Given the description of an element on the screen output the (x, y) to click on. 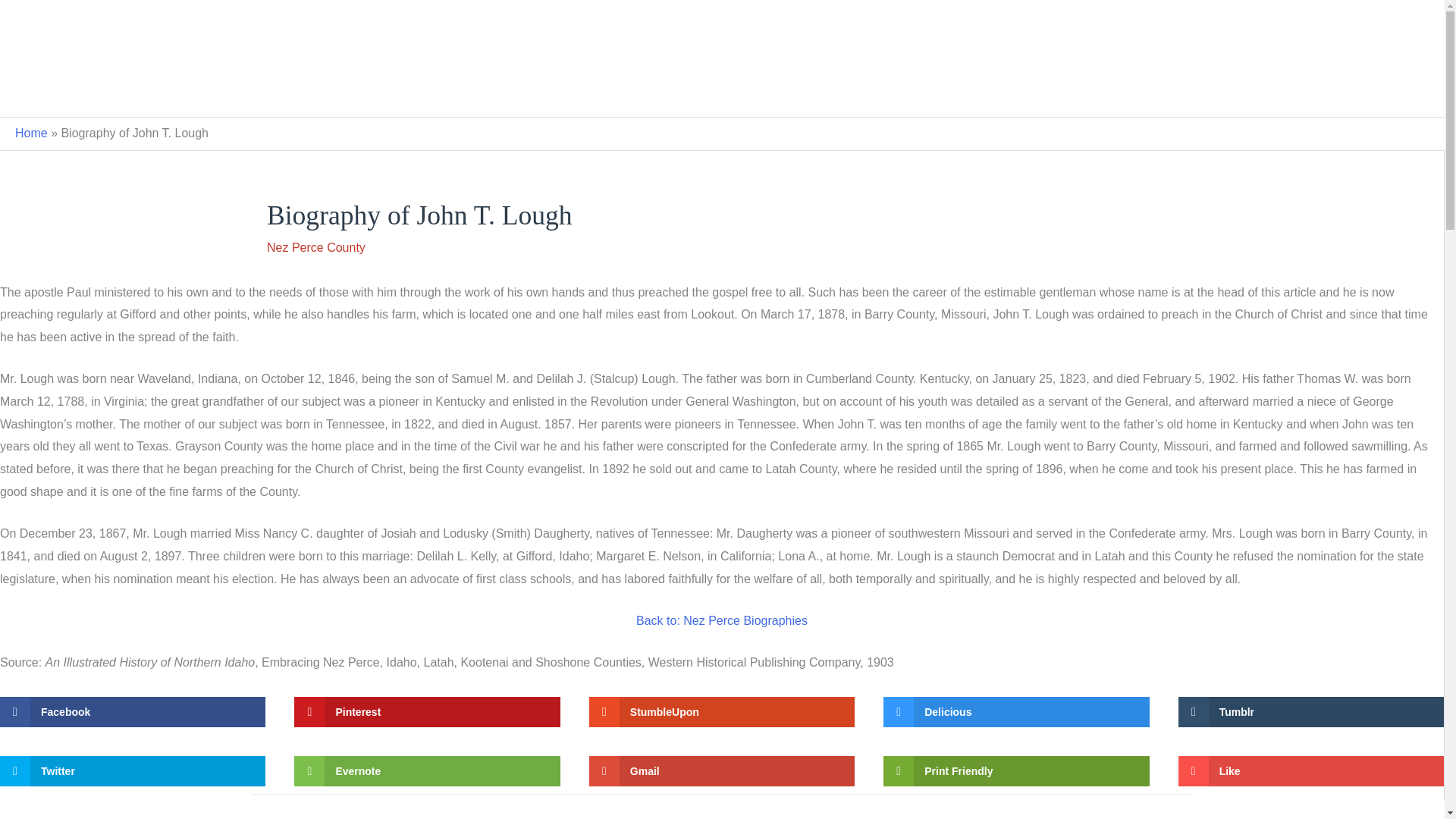
StumbleUpon (721, 711)
Back to: Nez Perce Biographies (722, 620)
Idaho Genealogy (722, 26)
Home (31, 132)
Tumblr (1310, 711)
Alturas County (526, 92)
Print Friendly (1015, 770)
Nez Perce County (315, 246)
Idaho Genealogy Queries (392, 92)
Nez Perce County (1071, 92)
Blaine County (741, 92)
Pinterest (426, 711)
Facebook (132, 711)
Bonner County (843, 92)
Twitter (132, 770)
